Given the description of an element on the screen output the (x, y) to click on. 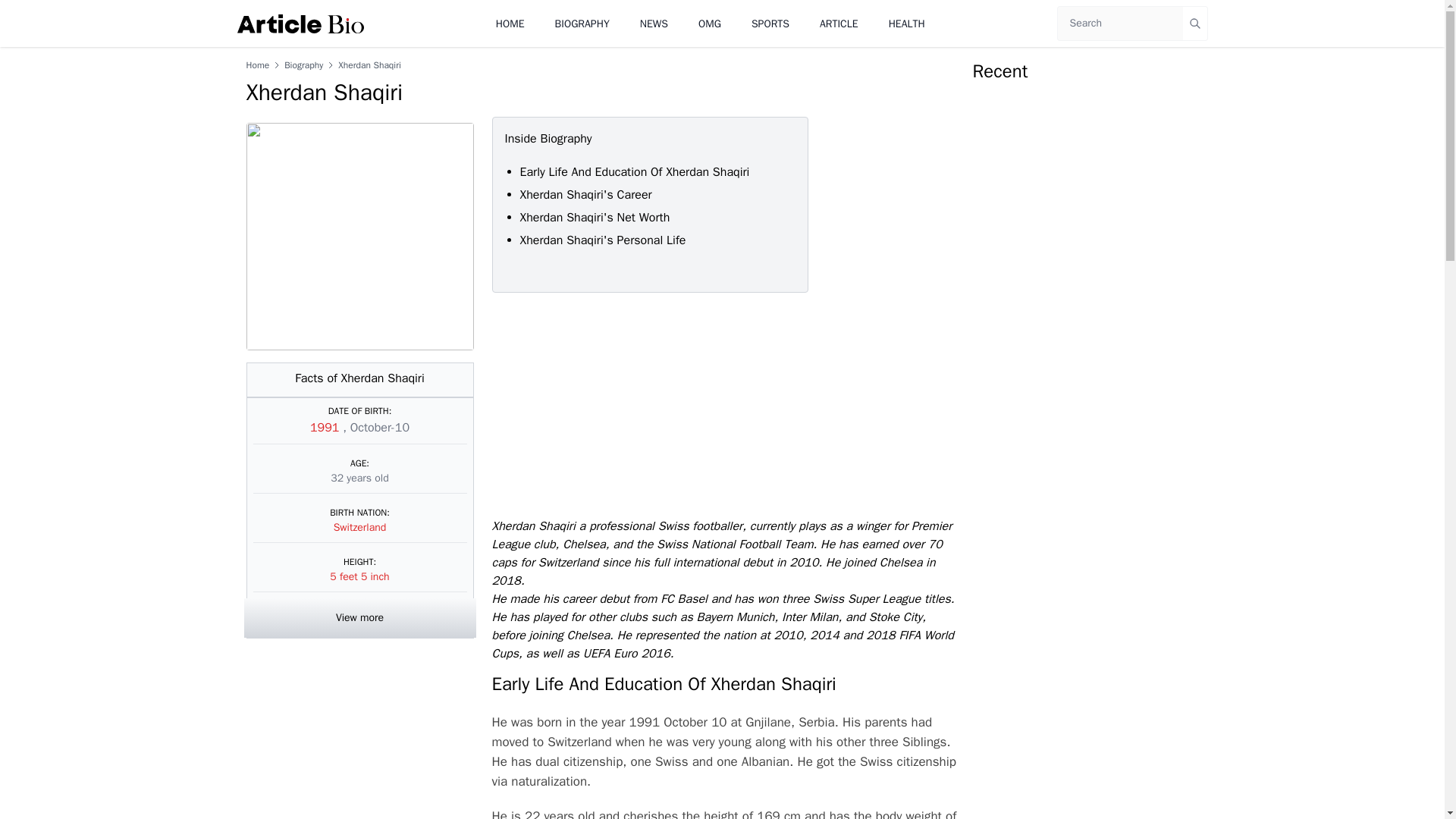
OMG (709, 23)
HOME (510, 23)
1991 (326, 427)
Xherdan Shaqiri's Net Worth (594, 217)
Early Life And Education Of Xherdan Shaqiri (634, 171)
Xherdan Shaqiri's Career (585, 194)
NEWS (654, 23)
Switzerland (360, 526)
BIOGRAPHY (582, 23)
Advertisement (721, 404)
Home (257, 64)
5 feet 5 inch (359, 576)
Xherdan Shaqiri's Personal Life (602, 240)
ARTICLE (839, 23)
HEALTH (906, 23)
